Given the description of an element on the screen output the (x, y) to click on. 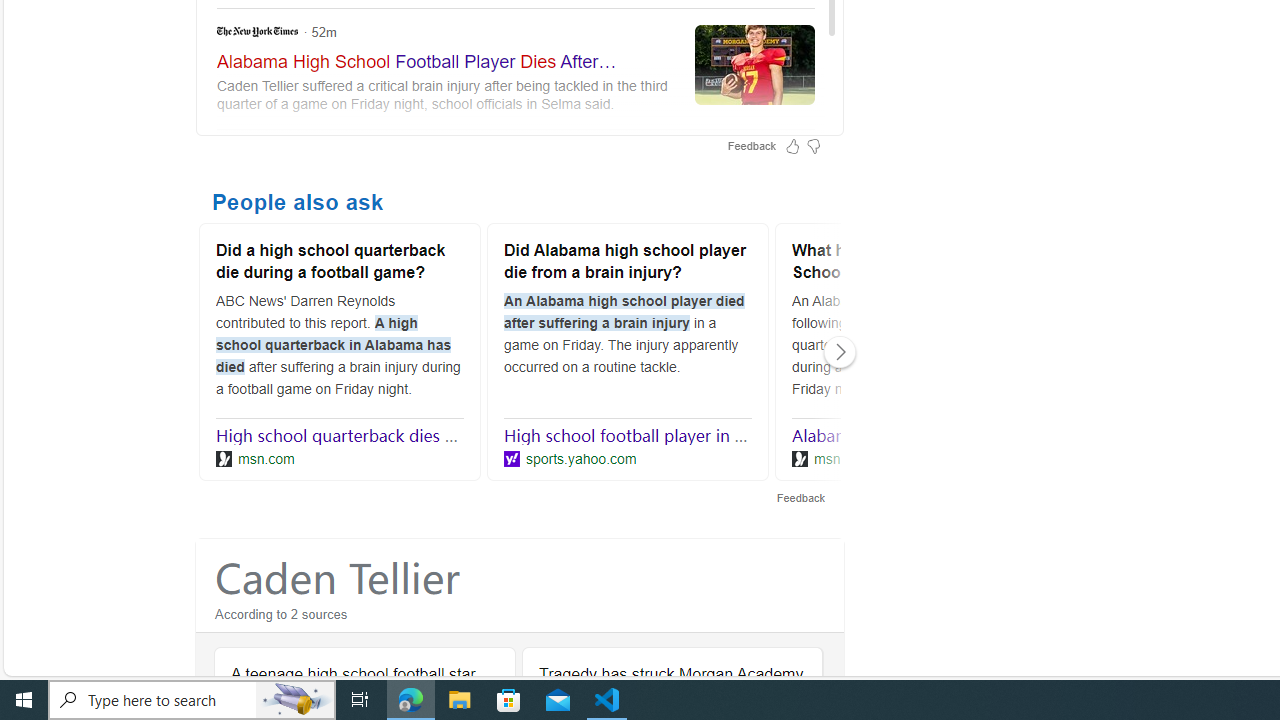
The New York Times (516, 67)
What happened to a Selma High School quarterback? (915, 263)
Click to scroll right (840, 352)
Did Alabama high school player die from a brain injury? (628, 263)
Feedback Like (792, 146)
Did a high school quarterback die during a football game? (339, 263)
